Given the description of an element on the screen output the (x, y) to click on. 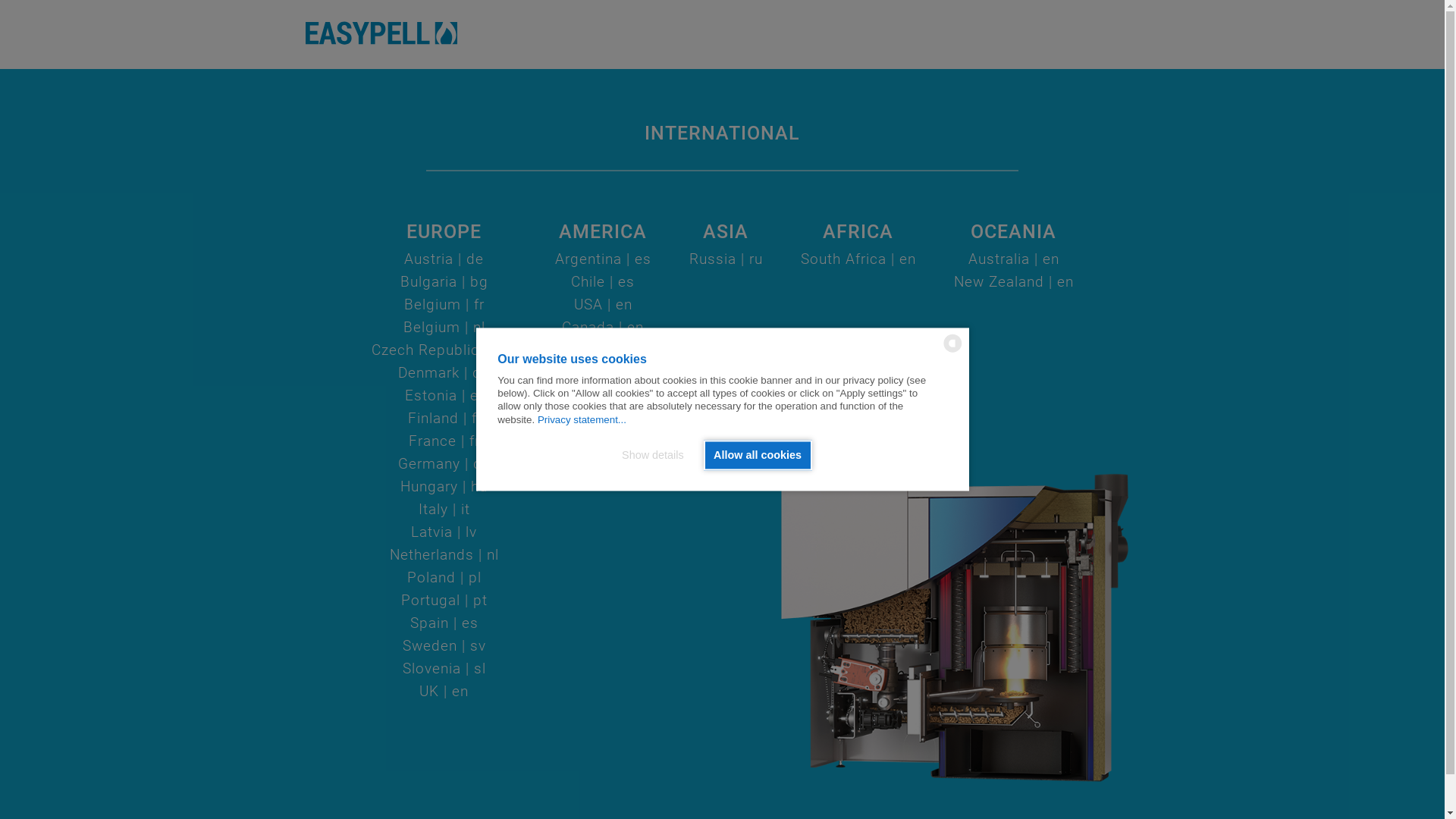
Zur Startseite von Easypell Element type: hover (380, 32)
USA | en Element type: text (602, 304)
Denmark | da Element type: text (443, 372)
Show details Element type: text (656, 454)
Italy | it Element type: text (444, 508)
Chile | es Element type: text (602, 281)
Germany | de Element type: text (443, 463)
Argentina | es Element type: text (603, 258)
INTERNATIONAL Element type: text (722, 133)
Slovenia | sl Element type: text (443, 668)
South Africa | en Element type: text (858, 258)
Poland | pl Element type: text (443, 577)
Belgium | fr Element type: text (443, 304)
Belgium | nl Element type: text (444, 326)
Sweden | sv Element type: text (443, 645)
Netherlands | nl Element type: text (443, 554)
Canada | en Element type: text (602, 326)
Spain | es Element type: text (443, 622)
Privacy statement... Element type: text (581, 419)
Portugal | pt Element type: text (443, 599)
Estonia | et Element type: text (443, 395)
Bulgaria | bg Element type: text (444, 281)
Czech Republica | cs Element type: text (444, 349)
Finland | fi Element type: text (443, 417)
Latvia | lv Element type: text (443, 531)
France | fr Element type: text (443, 440)
Austria | de Element type: text (443, 258)
Hungary | hu Element type: text (443, 486)
Australia | en Element type: text (1012, 258)
UK | en Element type: text (443, 690)
Allow all cookies Element type: text (757, 454)
New Zealand | en Element type: text (1013, 281)
powered by Datareporter Element type: hover (952, 351)
Russia | ru Element type: text (725, 258)
